Given the description of an element on the screen output the (x, y) to click on. 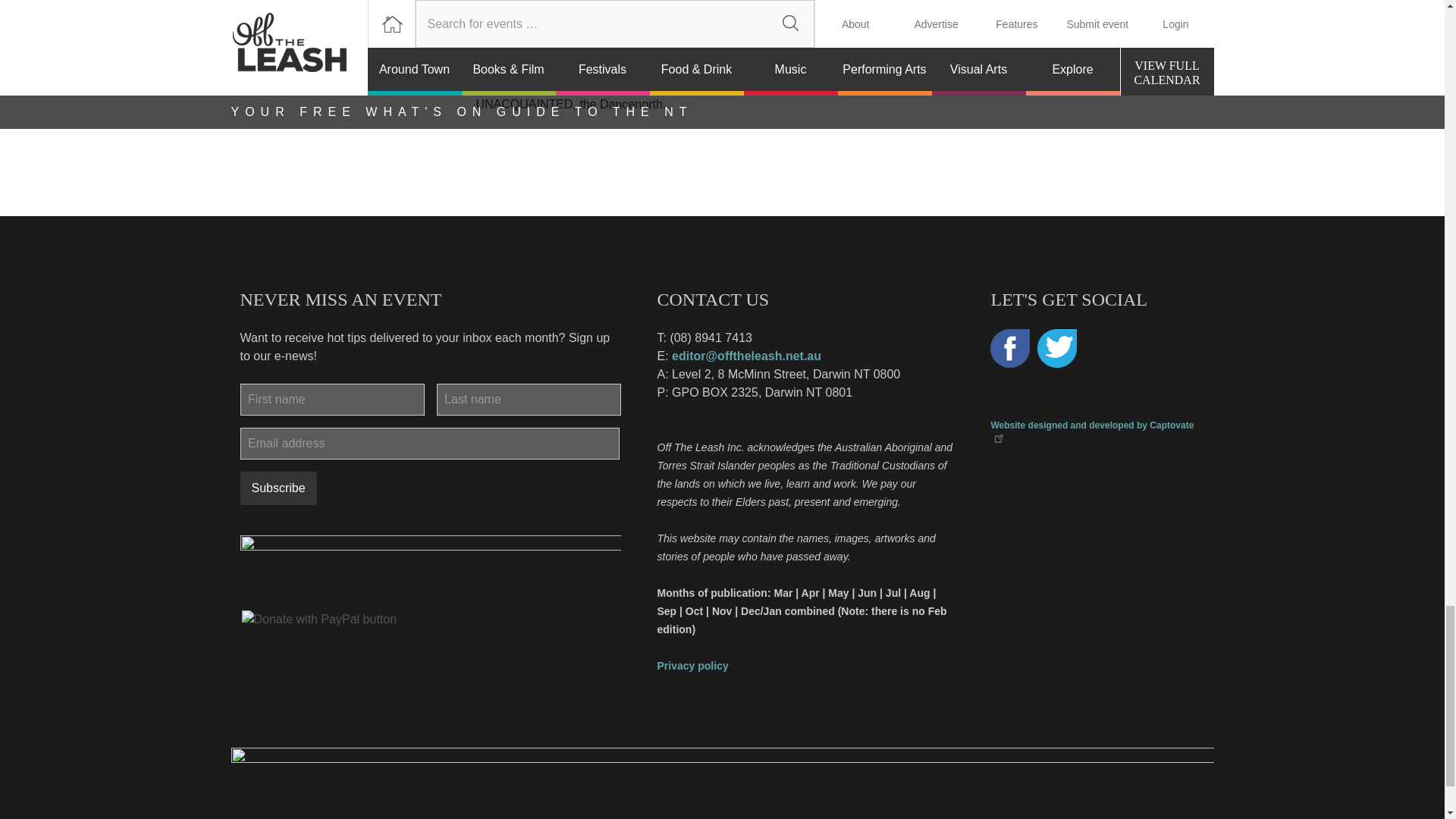
Privacy policy (692, 665)
Follow us on Twitter (1056, 348)
Like us on Facebook (1009, 348)
Wayfinder (519, 46)
Subscribe (277, 488)
PayPal - The safer, easier way to pay online! (318, 619)
Subscribe (277, 488)
